Given the description of an element on the screen output the (x, y) to click on. 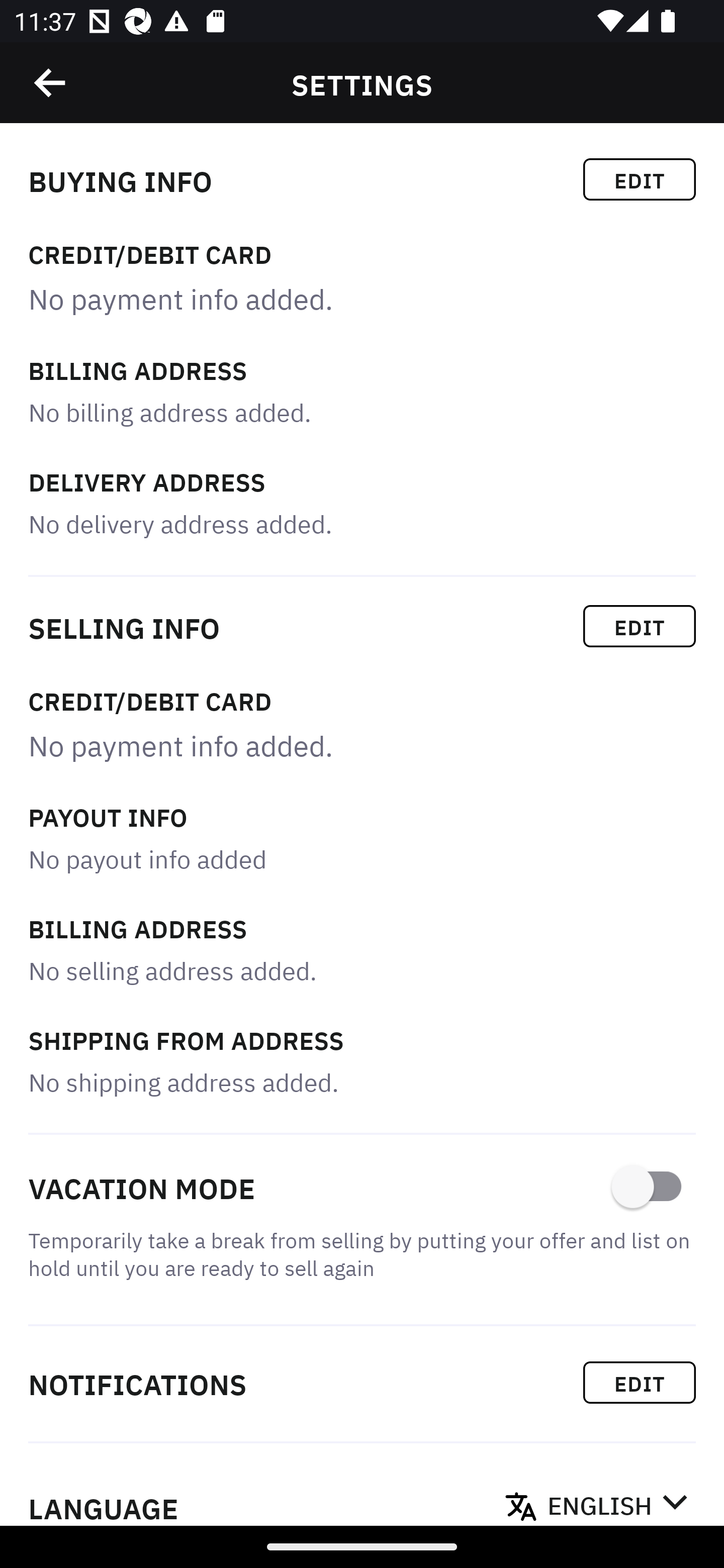
 (50, 83)
EDIT (639, 179)
EDIT (639, 626)
EDIT (639, 1382)
ENGLISH  (617, 1499)
